Given the description of an element on the screen output the (x, y) to click on. 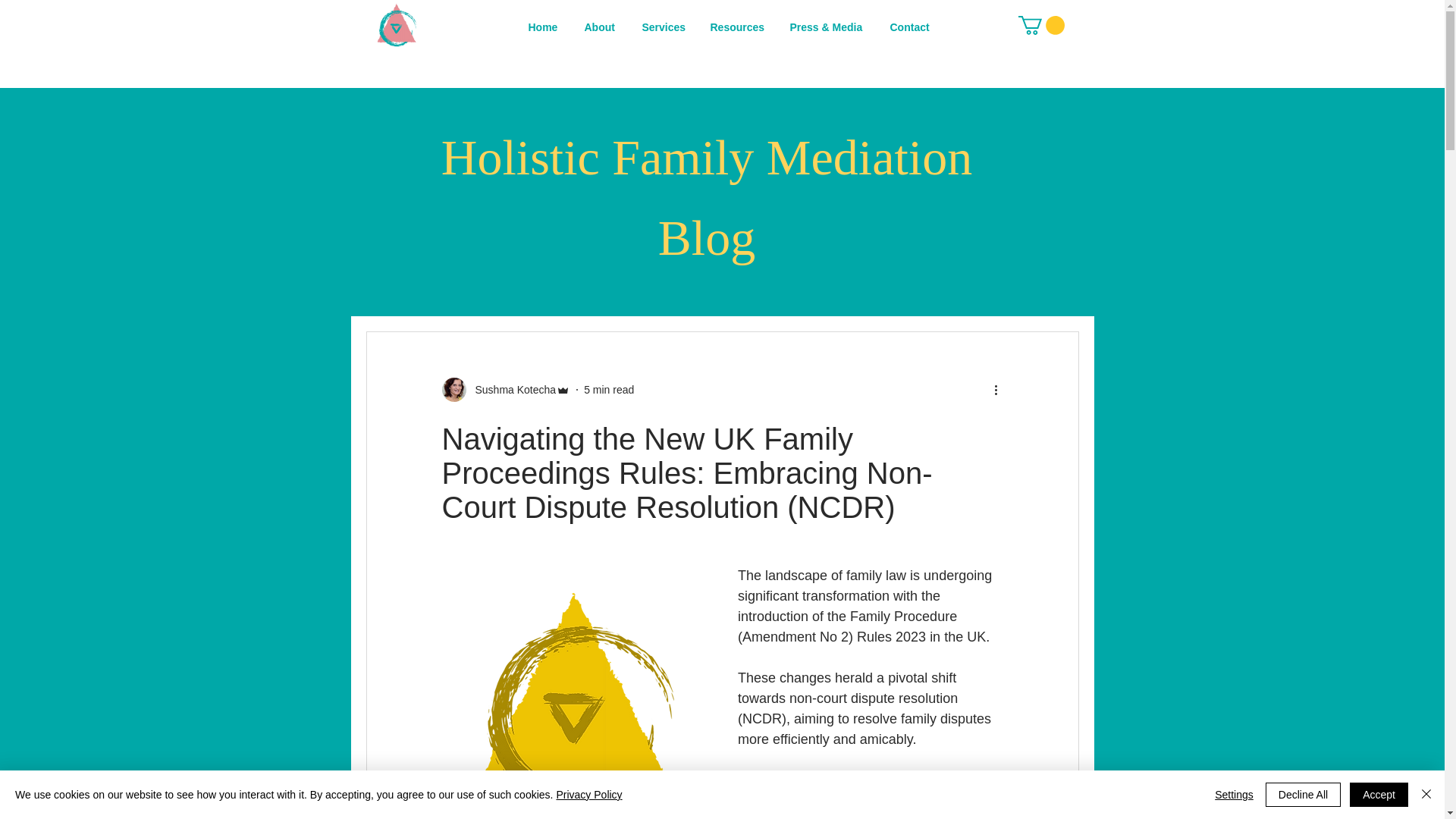
Contact (910, 27)
Home (544, 27)
Services (664, 27)
5 min read (608, 389)
Sushma Kotecha (510, 390)
About (601, 27)
Sushma Kotecha (505, 389)
Resources (738, 27)
